Given the description of an element on the screen output the (x, y) to click on. 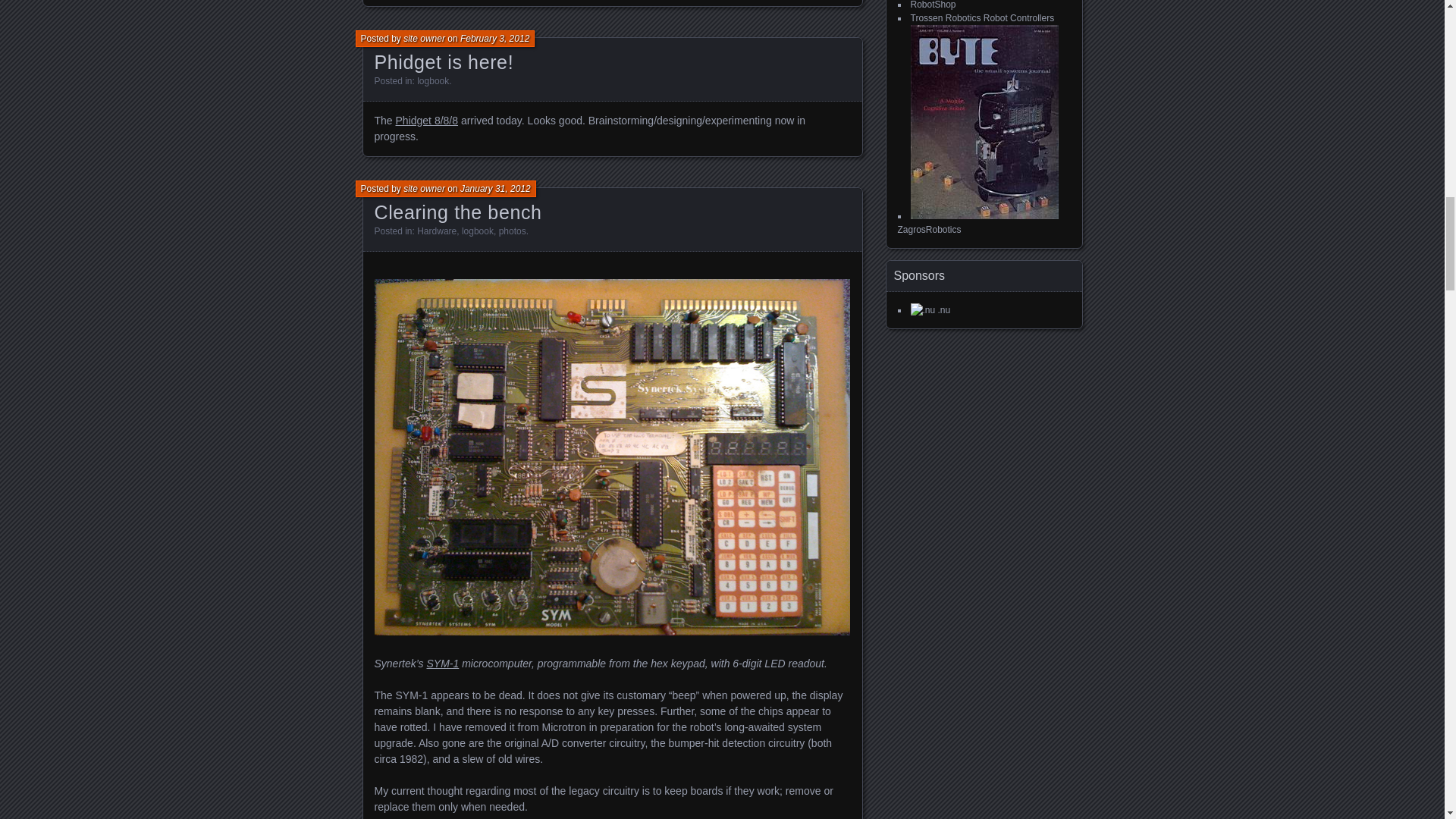
View all posts by site owner (424, 38)
site owner (424, 38)
January 31, 2012 (495, 188)
site owner (424, 188)
February 3, 2012 (494, 38)
View all posts by site owner (424, 188)
Hardware (436, 231)
logbook (432, 81)
Phidget is here! (443, 61)
logbook (477, 231)
Clearing the bench (457, 211)
photos (512, 231)
